Given the description of an element on the screen output the (x, y) to click on. 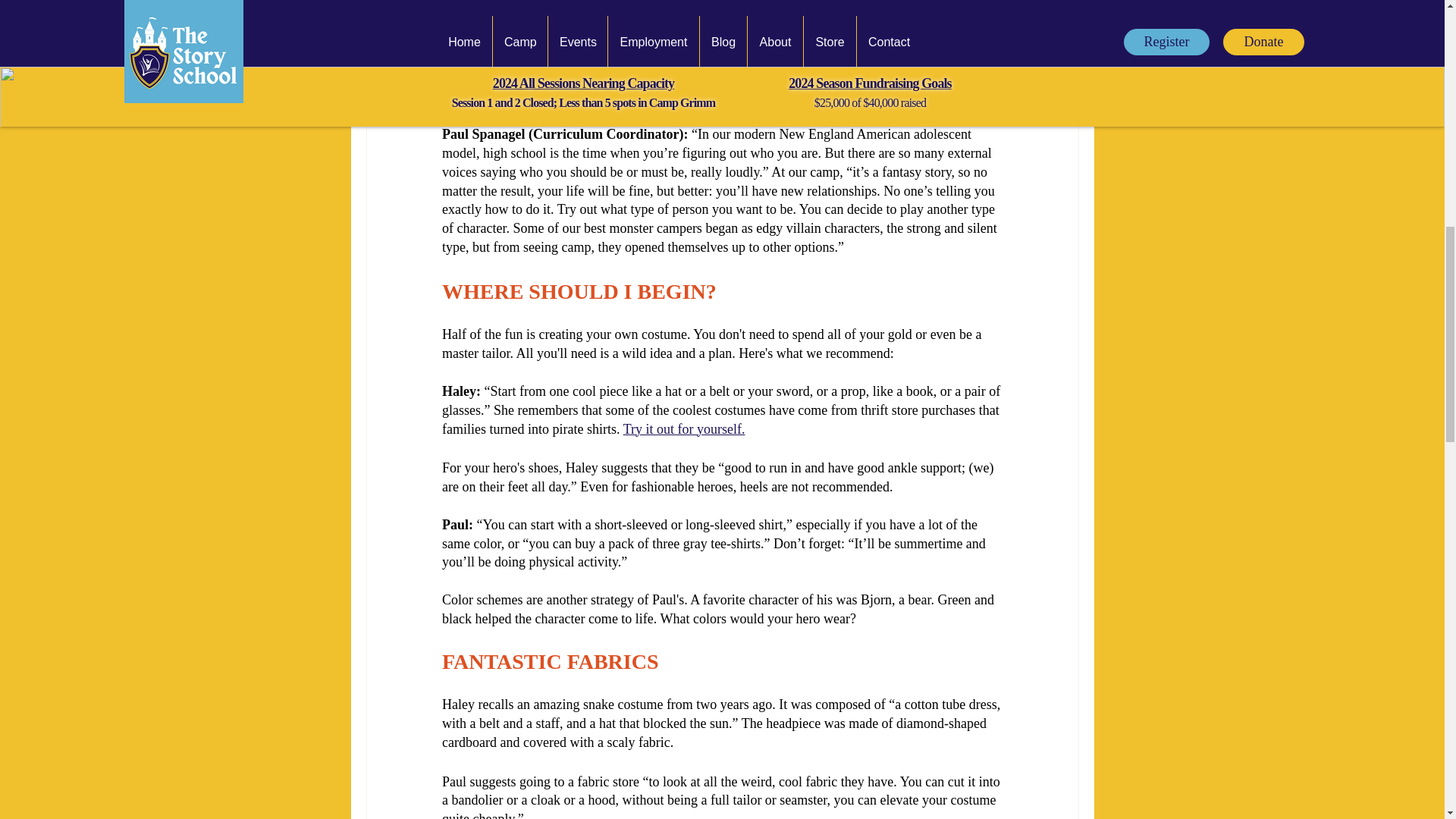
Try it out for yourself. (683, 428)
